Given the description of an element on the screen output the (x, y) to click on. 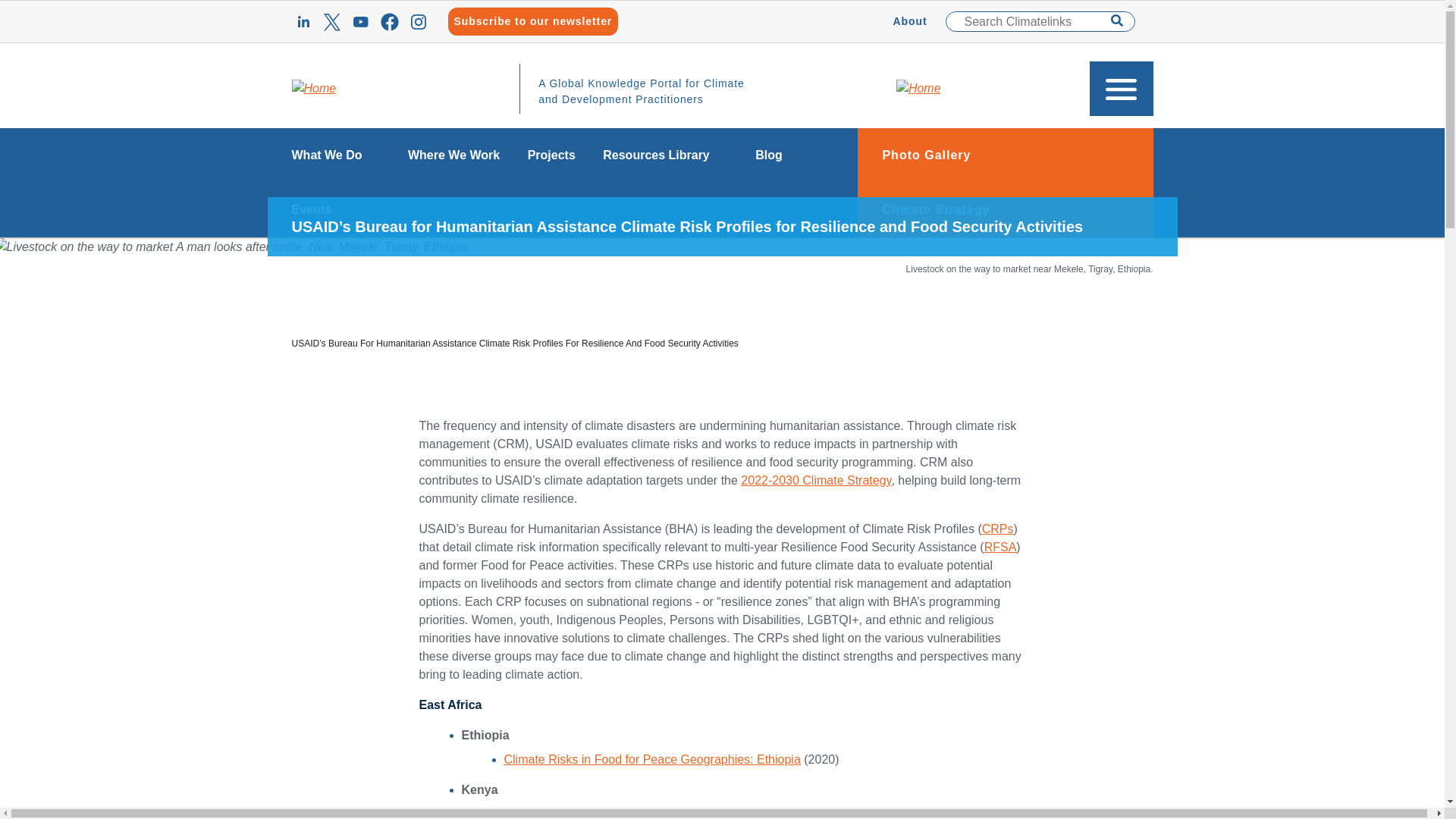
About (910, 21)
Youtube (360, 21)
Where We Work (454, 154)
Resources Library (665, 154)
Linked In (302, 21)
Home (918, 88)
Skip to main content (721, 6)
Home (313, 88)
Icon Twitter (331, 21)
Projects (551, 154)
